Given the description of an element on the screen output the (x, y) to click on. 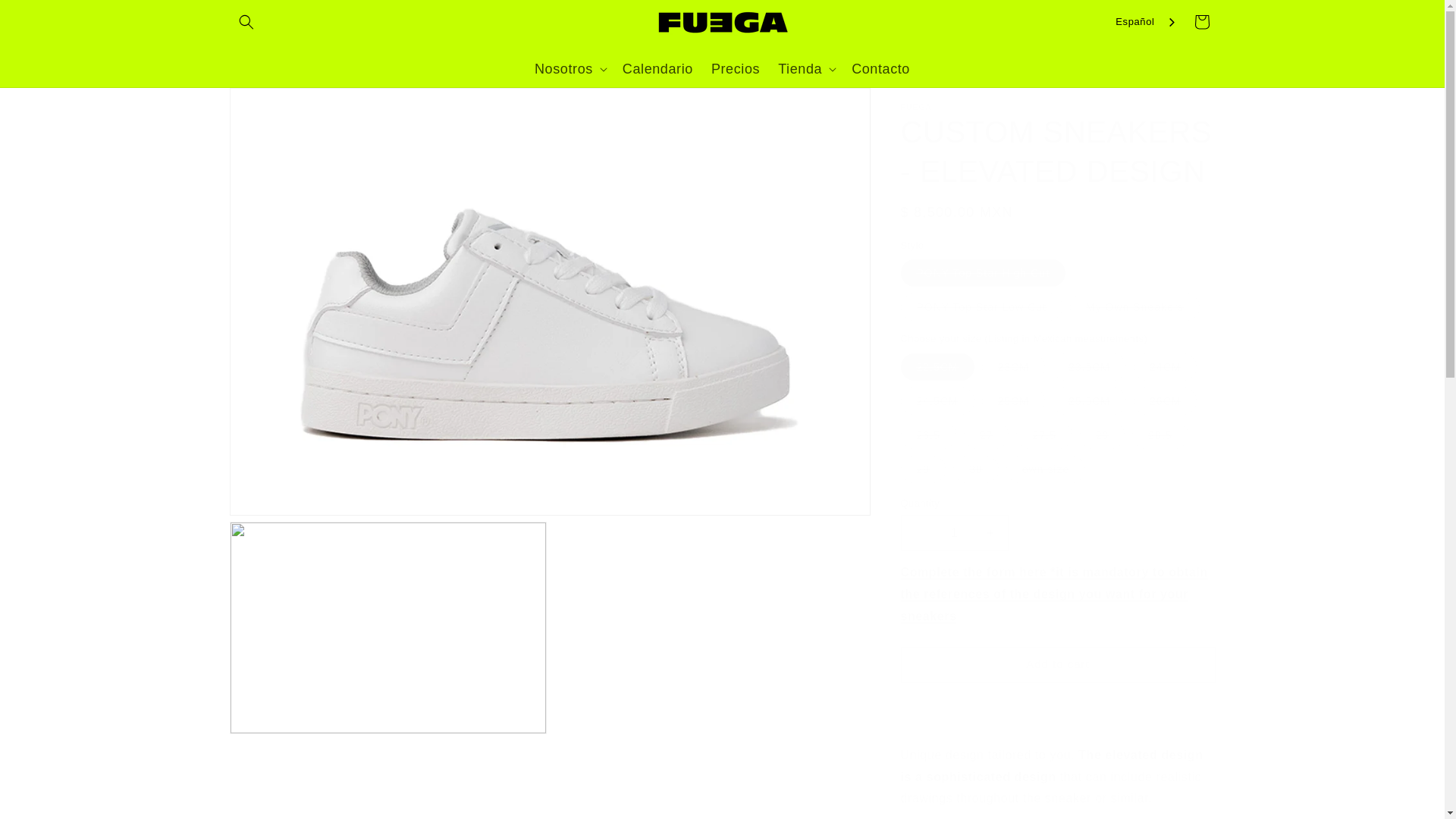
Open media 2 in modal (387, 627)
Skip to product information (274, 104)
Contacto (880, 68)
